Given the description of an element on the screen output the (x, y) to click on. 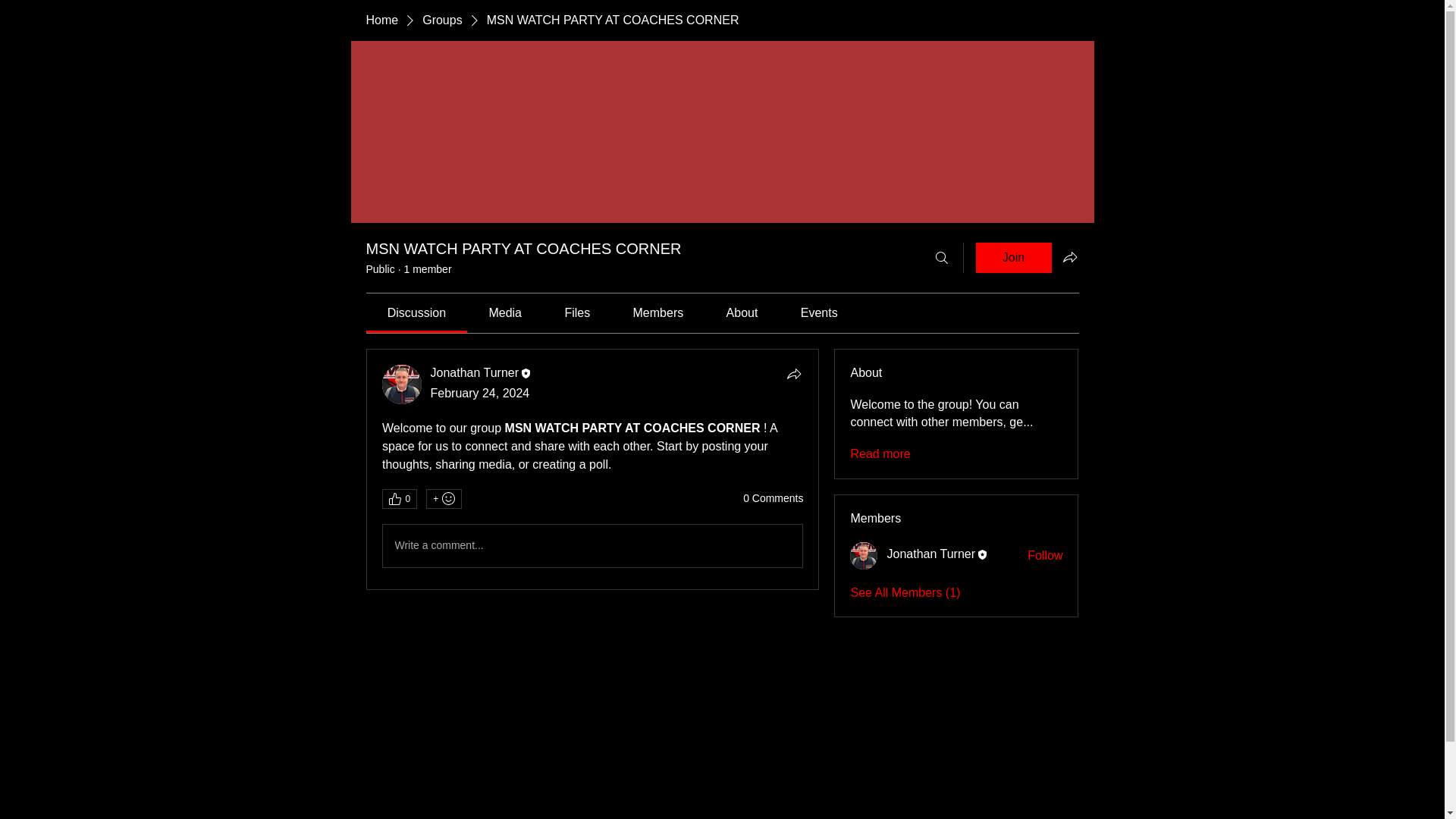
Jonathan Turner (401, 384)
Jonathan Turner (930, 554)
Jonathan Turner (863, 555)
Jonathan Turner (474, 372)
